Given the description of an element on the screen output the (x, y) to click on. 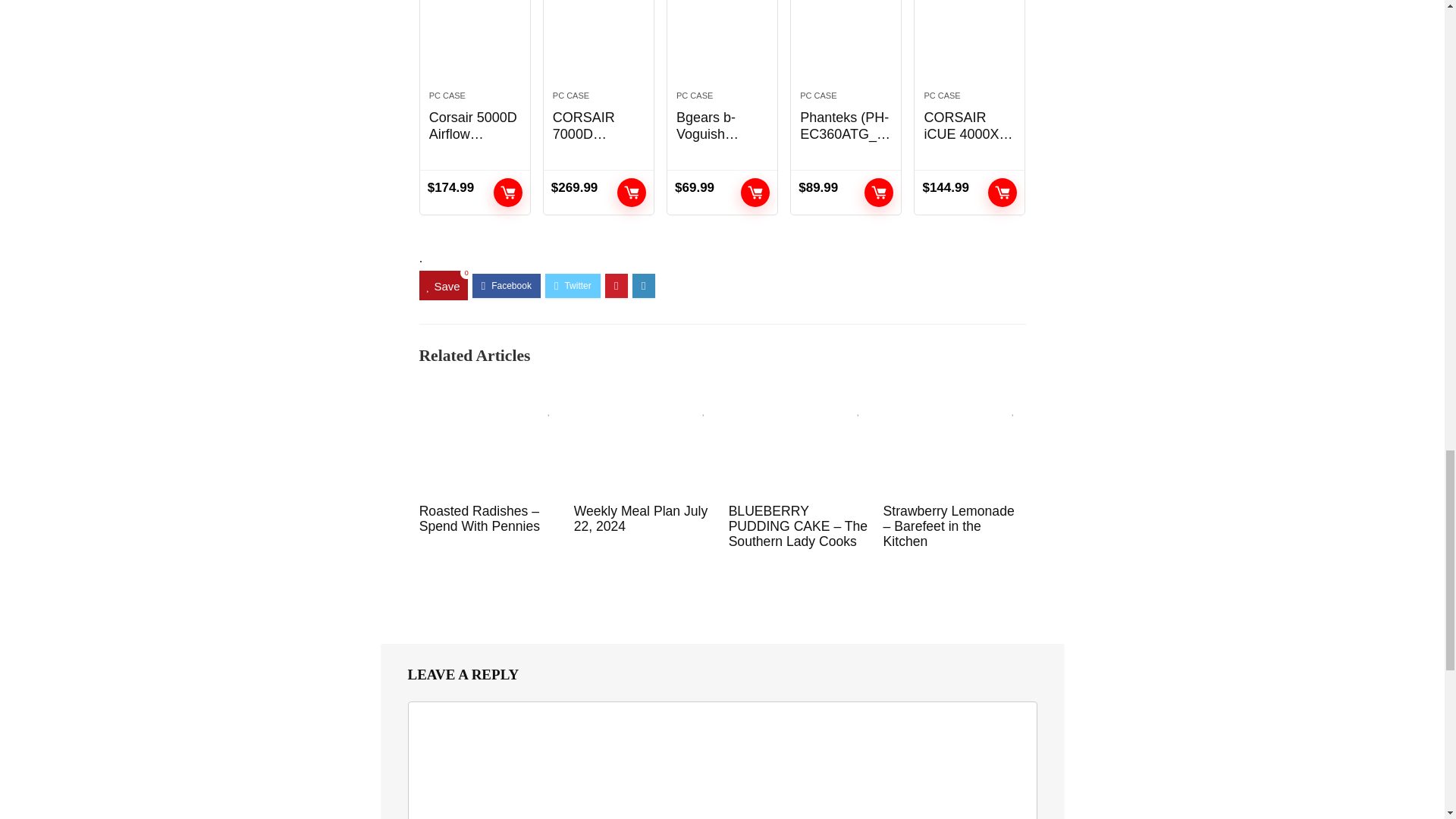
CORSAIR 7000D AIRFLOW Full-Tower ATX PC Case, Black (599, 38)
